Given the description of an element on the screen output the (x, y) to click on. 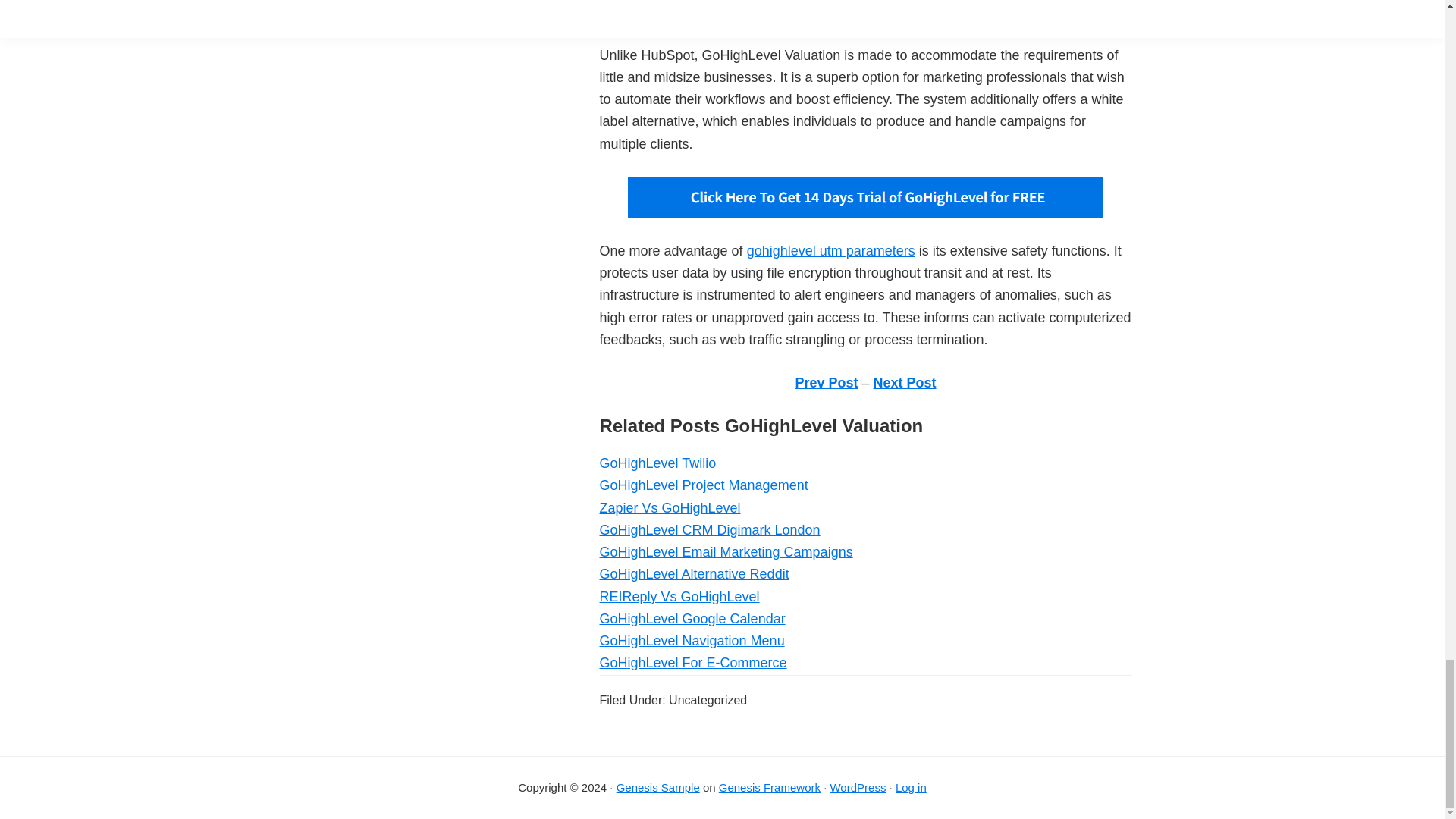
GoHighLevel For E-Commerce (692, 662)
GoHighLevel Google Calendar (691, 618)
GoHighLevel Twilio (657, 462)
Zapier Vs GoHighLevel (668, 507)
Genesis Sample (657, 787)
GoHighLevel CRM Digimark London (708, 529)
GoHighLevel Project Management (703, 485)
GoHighLevel Email Marketing Campaigns (724, 551)
GoHighLevel Navigation Menu (691, 640)
Prev Post (825, 382)
GoHighLevel Twilio (657, 462)
GoHighLevel Project Management (703, 485)
Next Post (904, 382)
GoHighLevel Google Calendar (691, 618)
Zapier Vs GoHighLevel (668, 507)
